Given the description of an element on the screen output the (x, y) to click on. 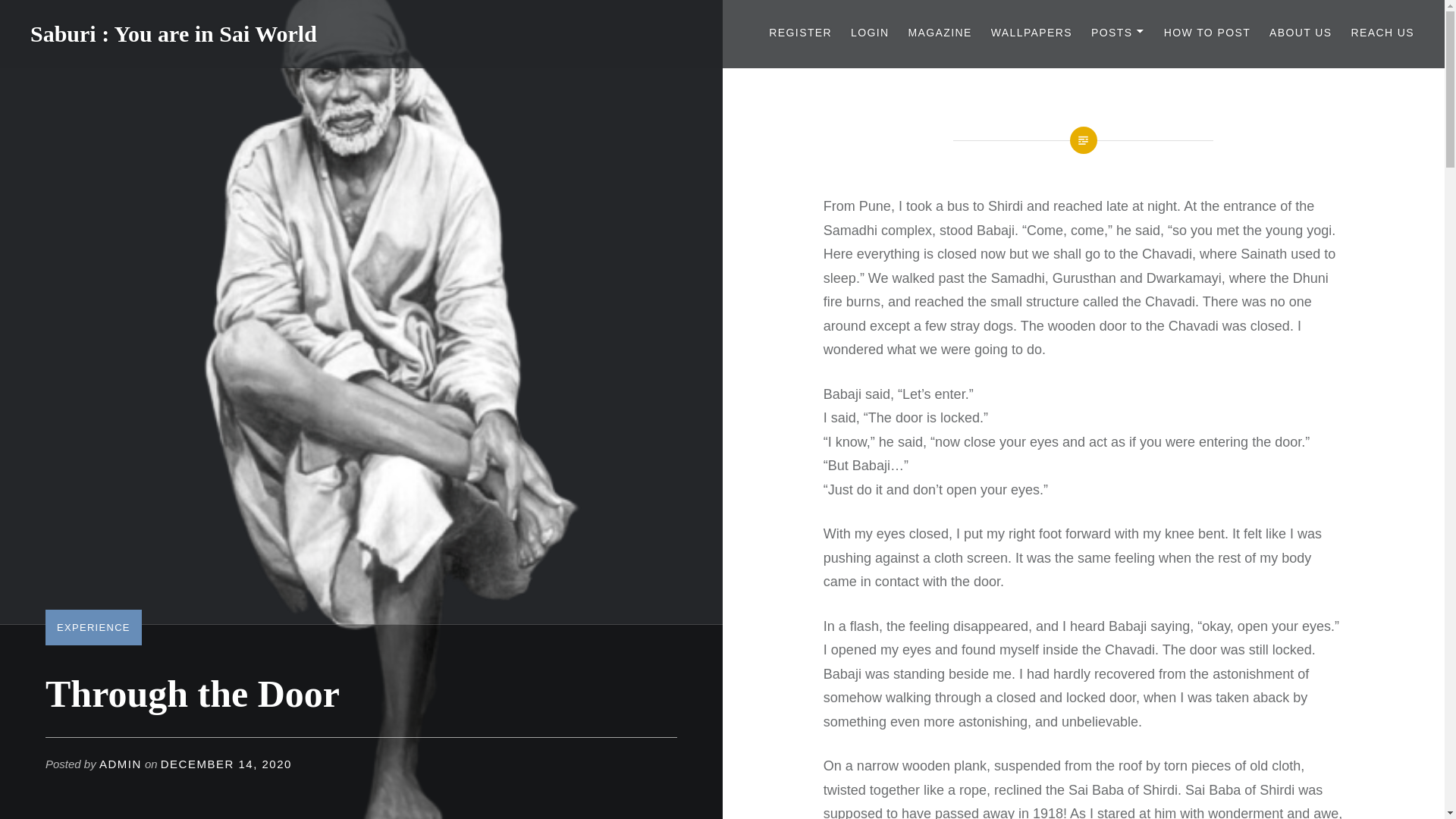
LOGIN (869, 32)
HOW TO POST (1206, 32)
DECEMBER 14, 2020 (226, 763)
ABOUT US (1300, 32)
POSTS (1117, 32)
REACH US (1382, 32)
MAGAZINE (939, 32)
ADMIN (120, 763)
Saburi : You are in Sai World (173, 33)
EXPERIENCE (93, 627)
